Given the description of an element on the screen output the (x, y) to click on. 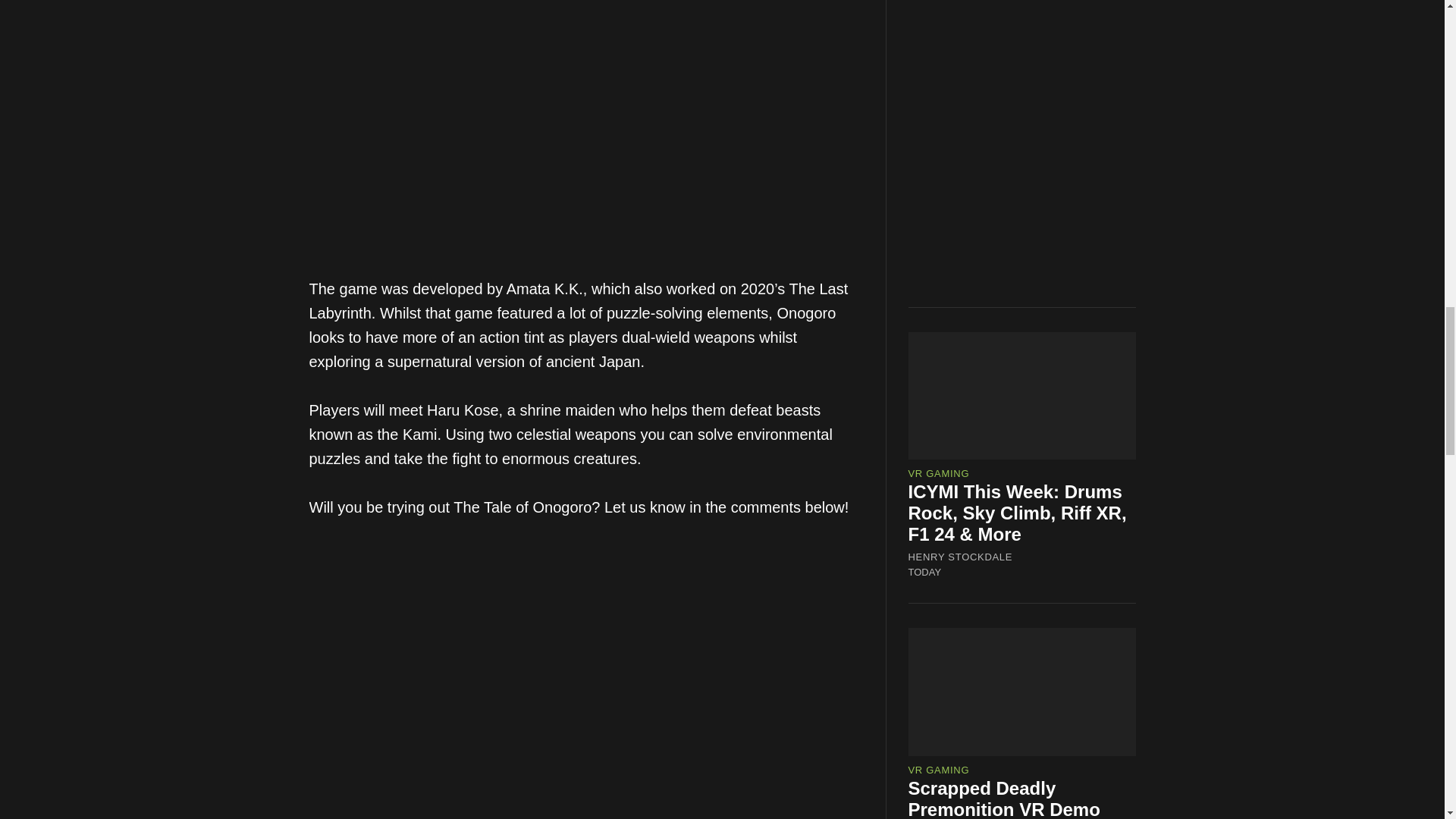
VR GAMING (938, 769)
HENRY STOCKDALE (960, 557)
VR GAMING (938, 473)
